Given the description of an element on the screen output the (x, y) to click on. 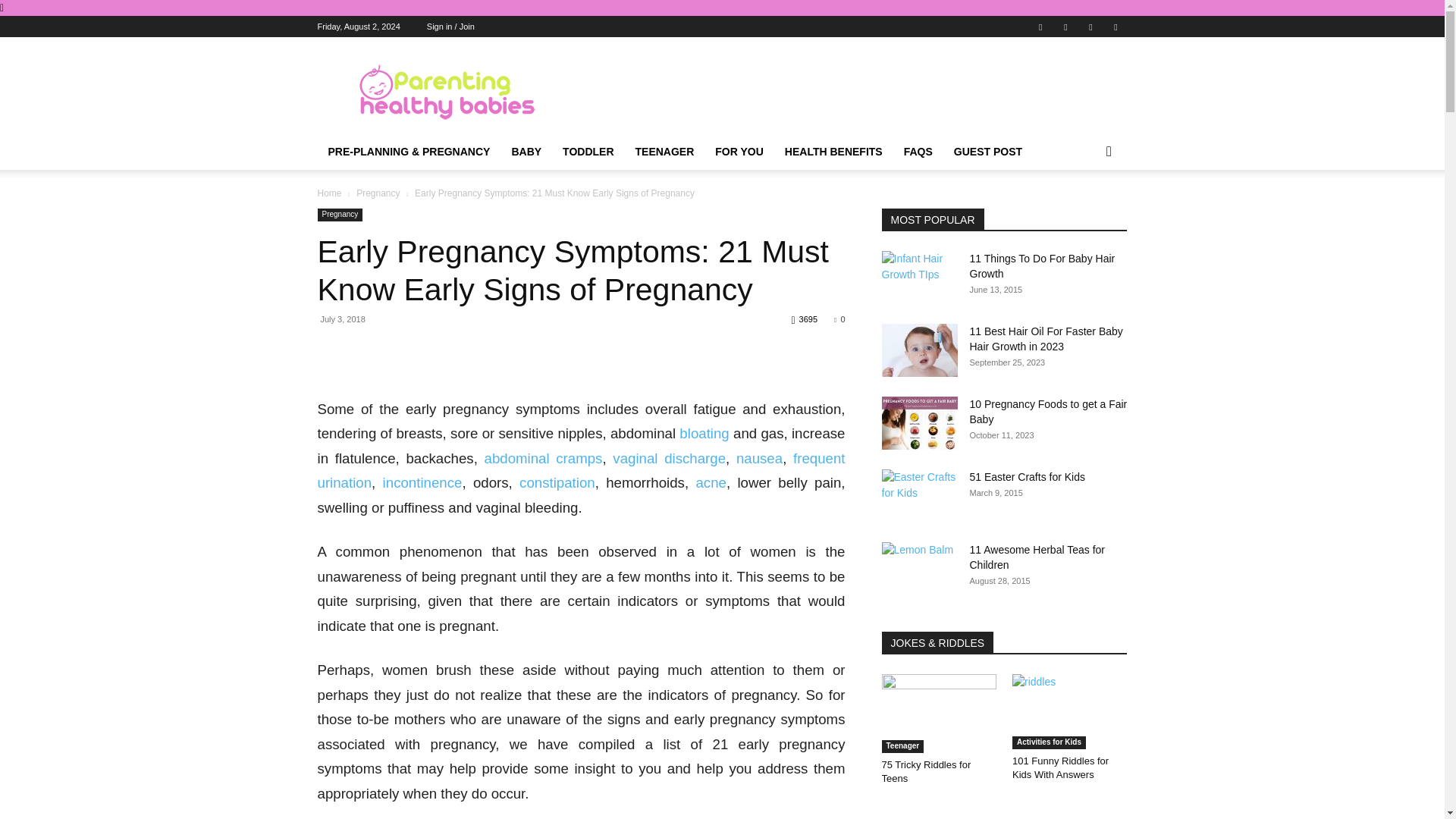
FOR YOU (739, 151)
HEALTH BENEFITS (833, 151)
GUEST POST (987, 151)
TODDLER (587, 151)
Pinterest (1065, 25)
TEENAGER (664, 151)
Twitter (1090, 25)
Youtube (1114, 25)
Search (1085, 211)
FAQS (918, 151)
Facebook (1040, 25)
Pregnancy (377, 193)
View all posts in Pregnancy (377, 193)
Home (328, 193)
BABY (525, 151)
